Given the description of an element on the screen output the (x, y) to click on. 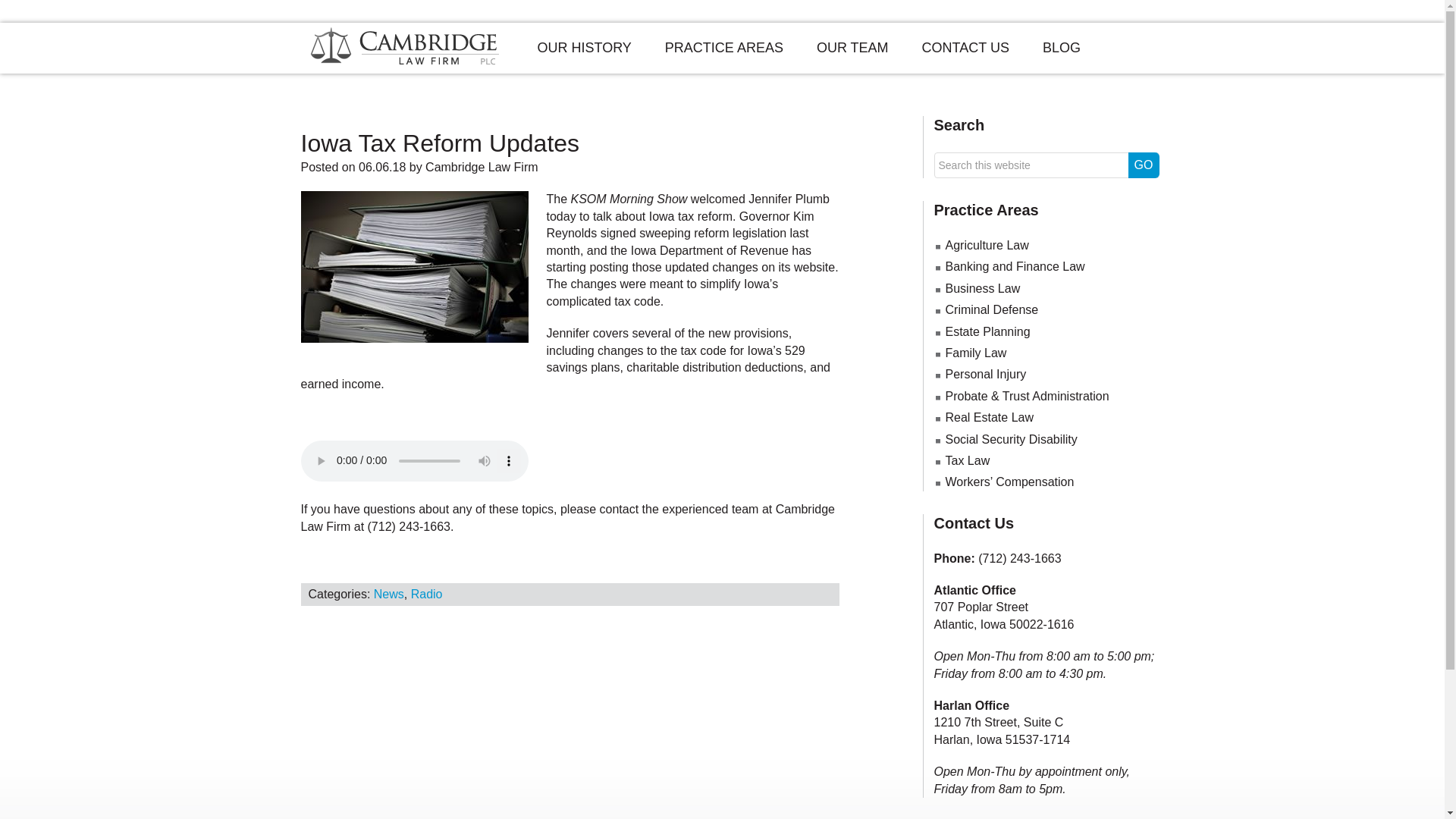
PRACTICE AREAS (723, 47)
Agriculture Law (985, 245)
OUR HISTORY (583, 47)
Estate Planning (986, 331)
Social Security Disability (1010, 439)
Radio (426, 594)
Business Law (982, 287)
Criminal Defense (991, 309)
Personal Injury (985, 373)
GO (1143, 165)
Banking and Finance Law (1014, 266)
Cambridge Law Firm (481, 166)
Family Law (975, 352)
CONTACT US (965, 47)
